Given the description of an element on the screen output the (x, y) to click on. 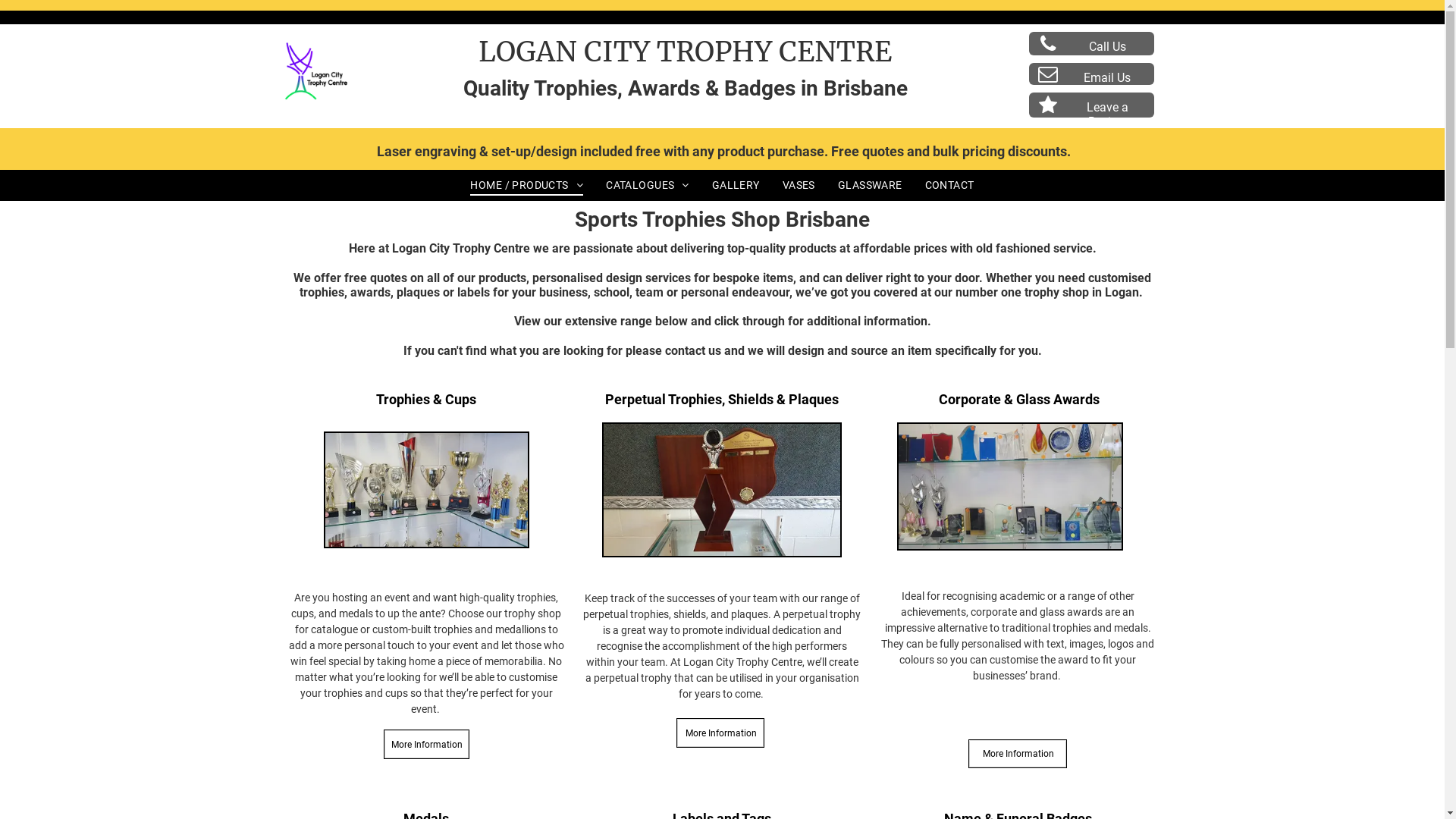
Call Us Element type: text (1091, 43)
More Information Element type: text (720, 732)
CONTACT Element type: text (949, 184)
GLASSWARE Element type: text (869, 184)
trophies Element type: text (320, 292)
Email Us Element type: text (1091, 73)
HOME / PRODUCTS Element type: text (526, 184)
awards Element type: text (370, 292)
LOGAN CITY TROPHY CENTRE Element type: text (684, 51)
CATALOGUES Element type: text (647, 184)
Logan Element type: text (1121, 292)
VASES Element type: text (798, 184)
More Information Element type: text (426, 744)
GALLERY Element type: text (735, 184)
More Information Element type: text (1017, 753)
Leave a Review Element type: text (1091, 104)
